Given the description of an element on the screen output the (x, y) to click on. 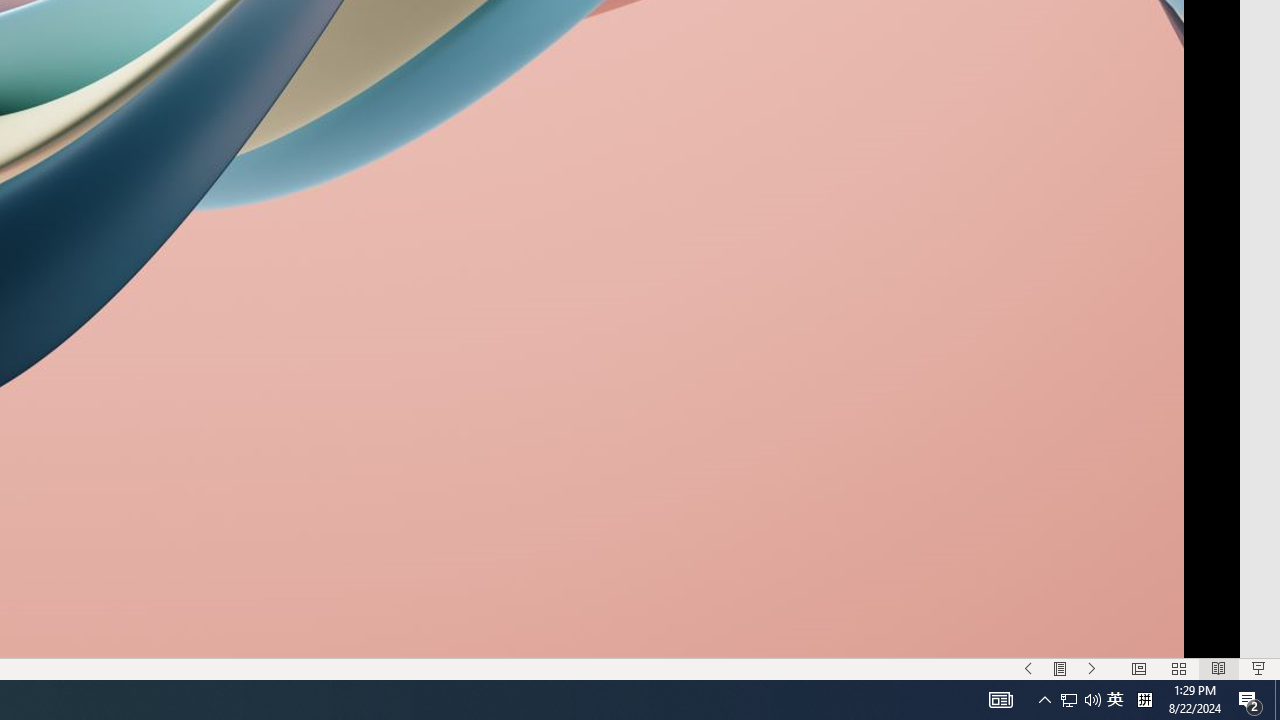
Slide Show Previous On (1028, 668)
Slide Show Next On (1092, 668)
Menu On (1060, 668)
